Given the description of an element on the screen output the (x, y) to click on. 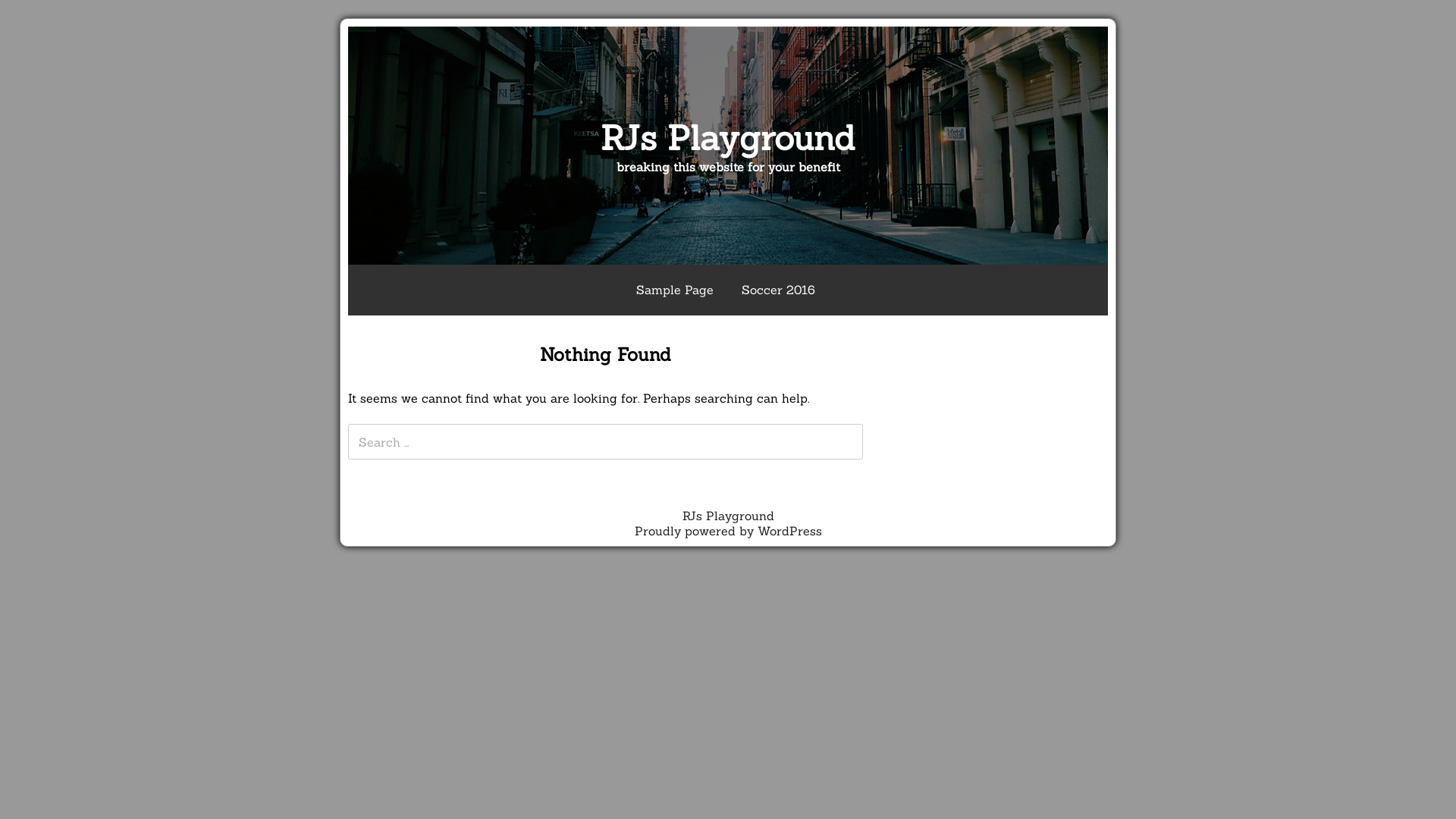
Search Element type: text (20, 10)
Sample Page Element type: text (674, 290)
RJs Playground Element type: text (727, 137)
RJs Playground Element type: text (728, 515)
Soccer 2016 Element type: text (778, 290)
Proudly powered by WordPress Element type: text (727, 530)
